Given the description of an element on the screen output the (x, y) to click on. 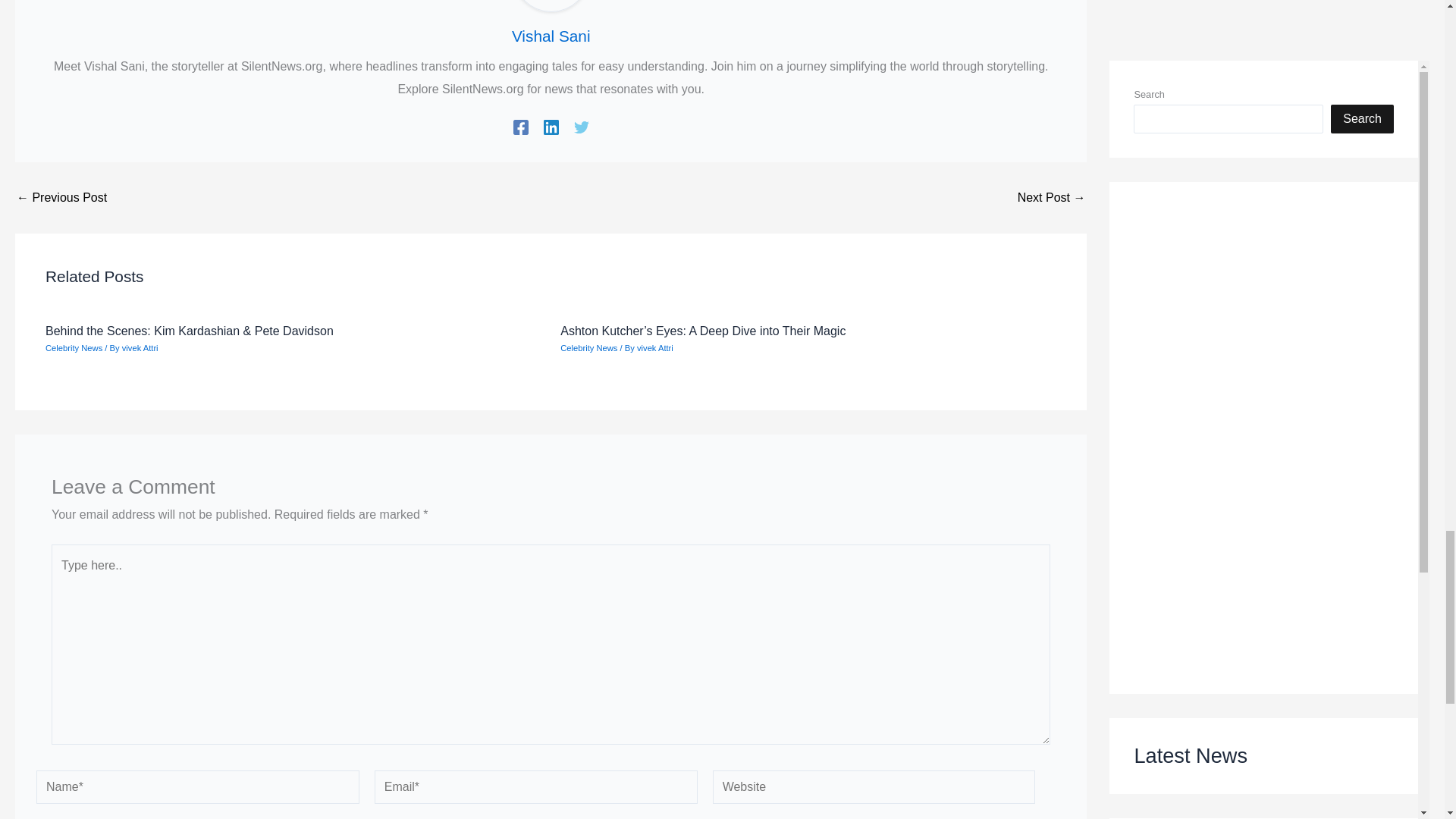
Blippi Net Worth In 2023: Income, Investment And Real Estate (1051, 197)
Vishal Sani (550, 35)
Karen Pittman Net Worth 2023: How Rich Is The Pittman? (61, 197)
View all posts by vivek Attri (140, 347)
View all posts by vivek Attri (654, 347)
